Given the description of an element on the screen output the (x, y) to click on. 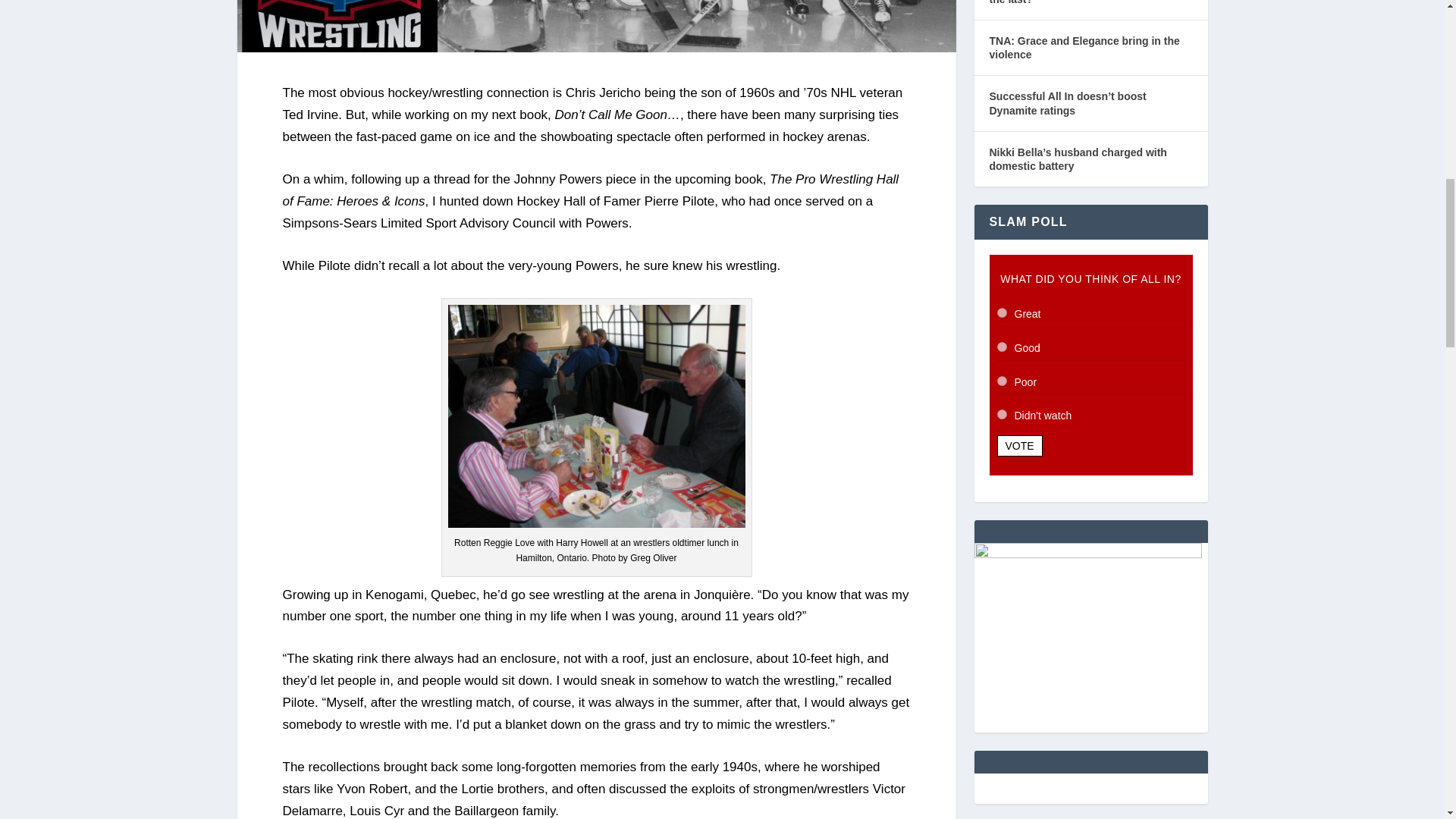
6509 (1000, 414)
6508 (1000, 380)
6506 (1000, 312)
6507 (1000, 347)
